Given the description of an element on the screen output the (x, y) to click on. 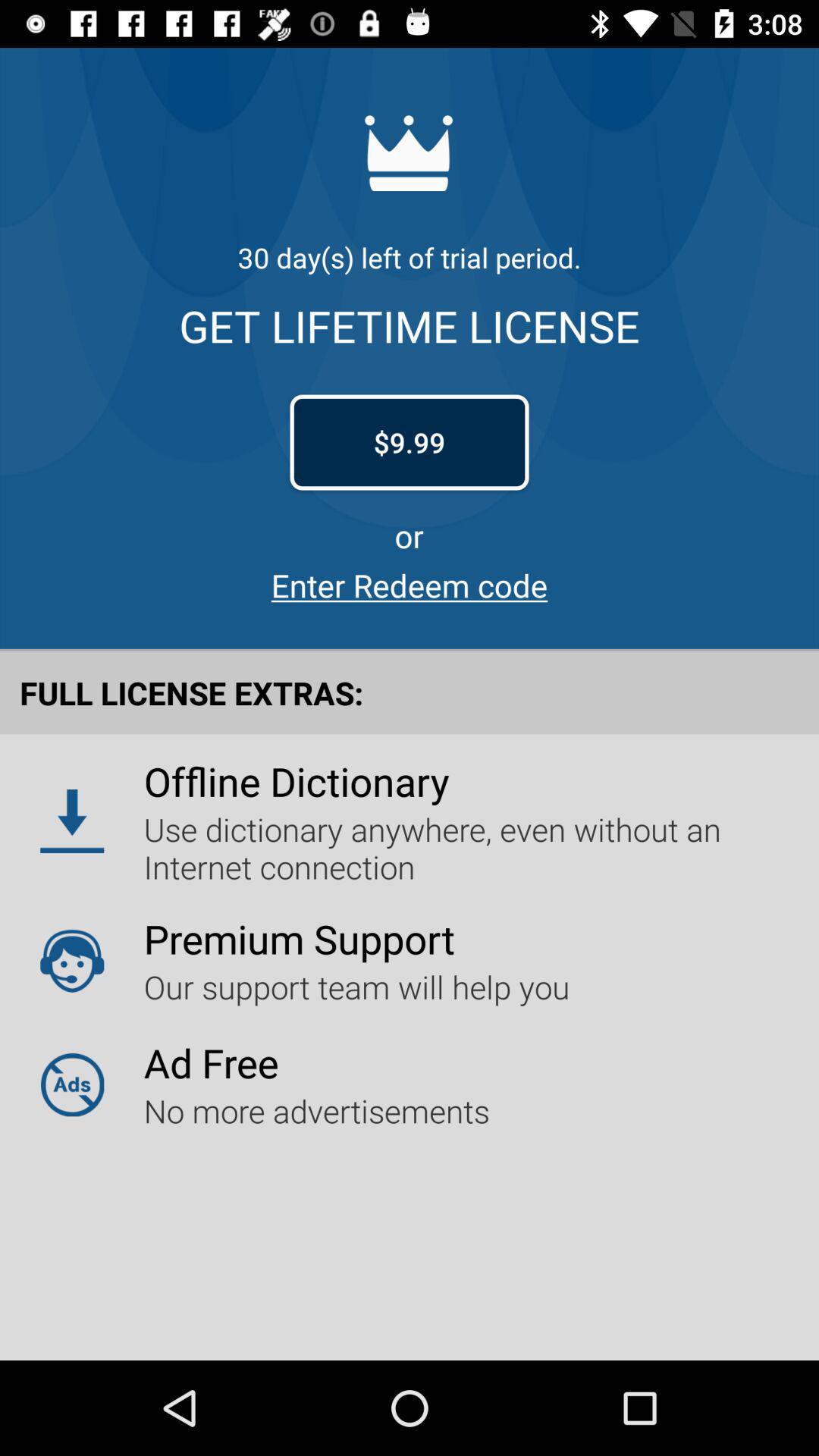
select the crown logo on the web page (409, 153)
click the button below the download button on the web page (72, 960)
click on the button 999 (409, 442)
